Given the description of an element on the screen output the (x, y) to click on. 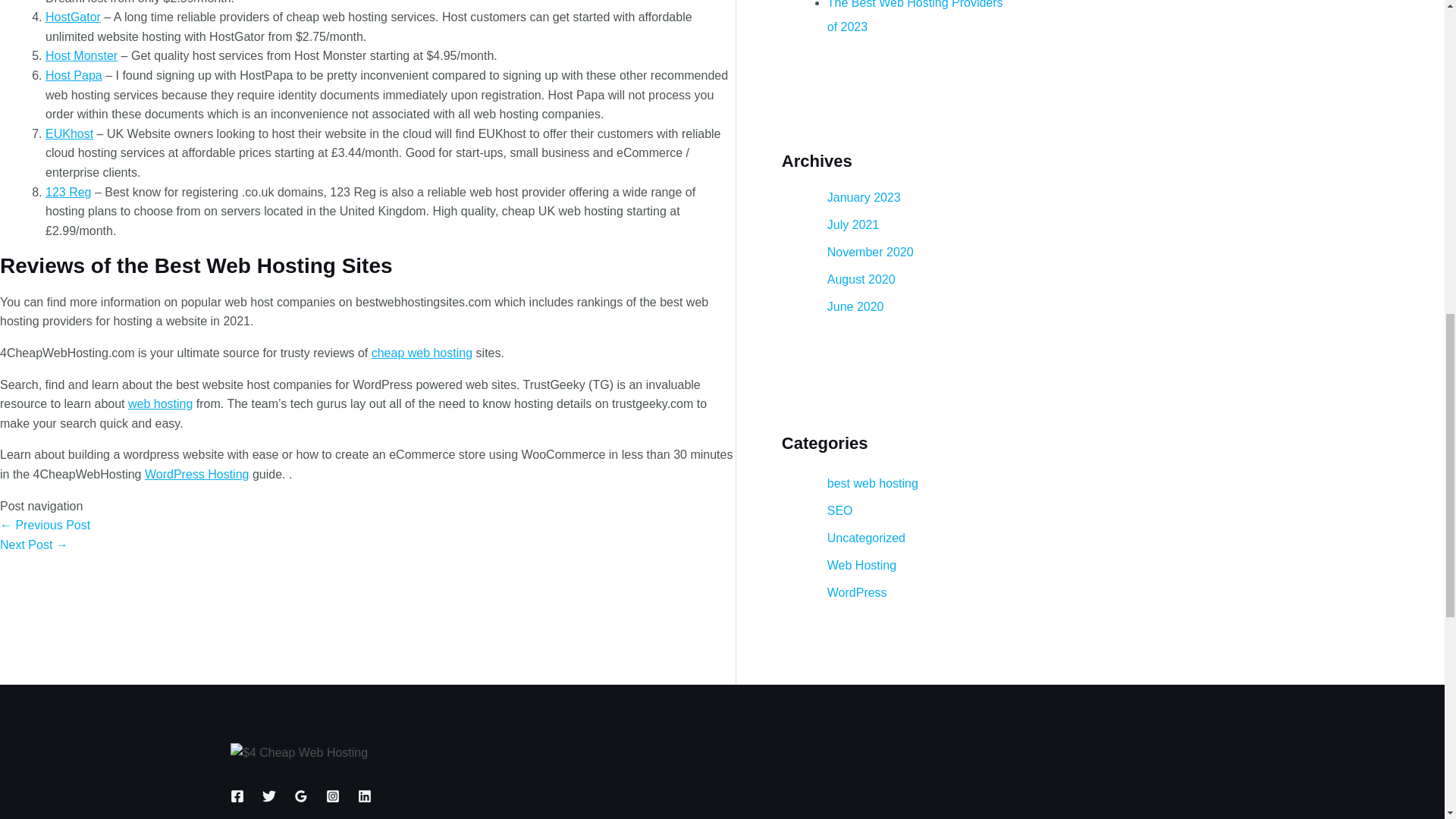
The Best Web Hosting Providers of 2023 (34, 544)
Host Monster (81, 55)
WordPress Hosting (196, 473)
123 Reg (68, 192)
web hosting (160, 403)
The Best Web Hosting Providers of 2023 (915, 16)
HostGator (72, 16)
Submit Website to Google - Super-Fast! (45, 524)
Google Reviews (300, 796)
EUKhost (69, 133)
